Given the description of an element on the screen output the (x, y) to click on. 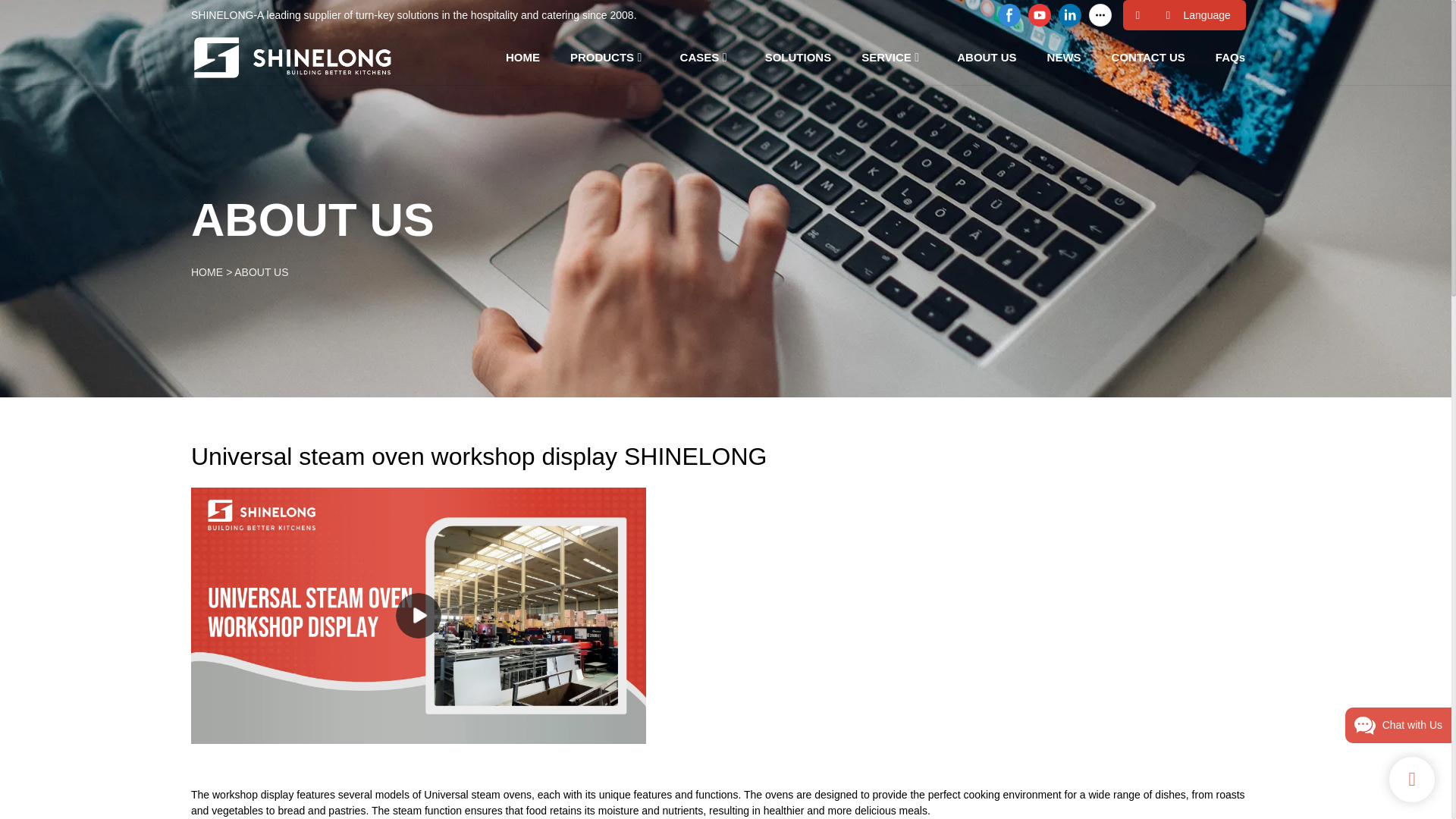
linkedin (1069, 15)
youtube (1039, 15)
HOME (522, 56)
facebook (1009, 15)
PRODUCTS (601, 56)
